Given the description of an element on the screen output the (x, y) to click on. 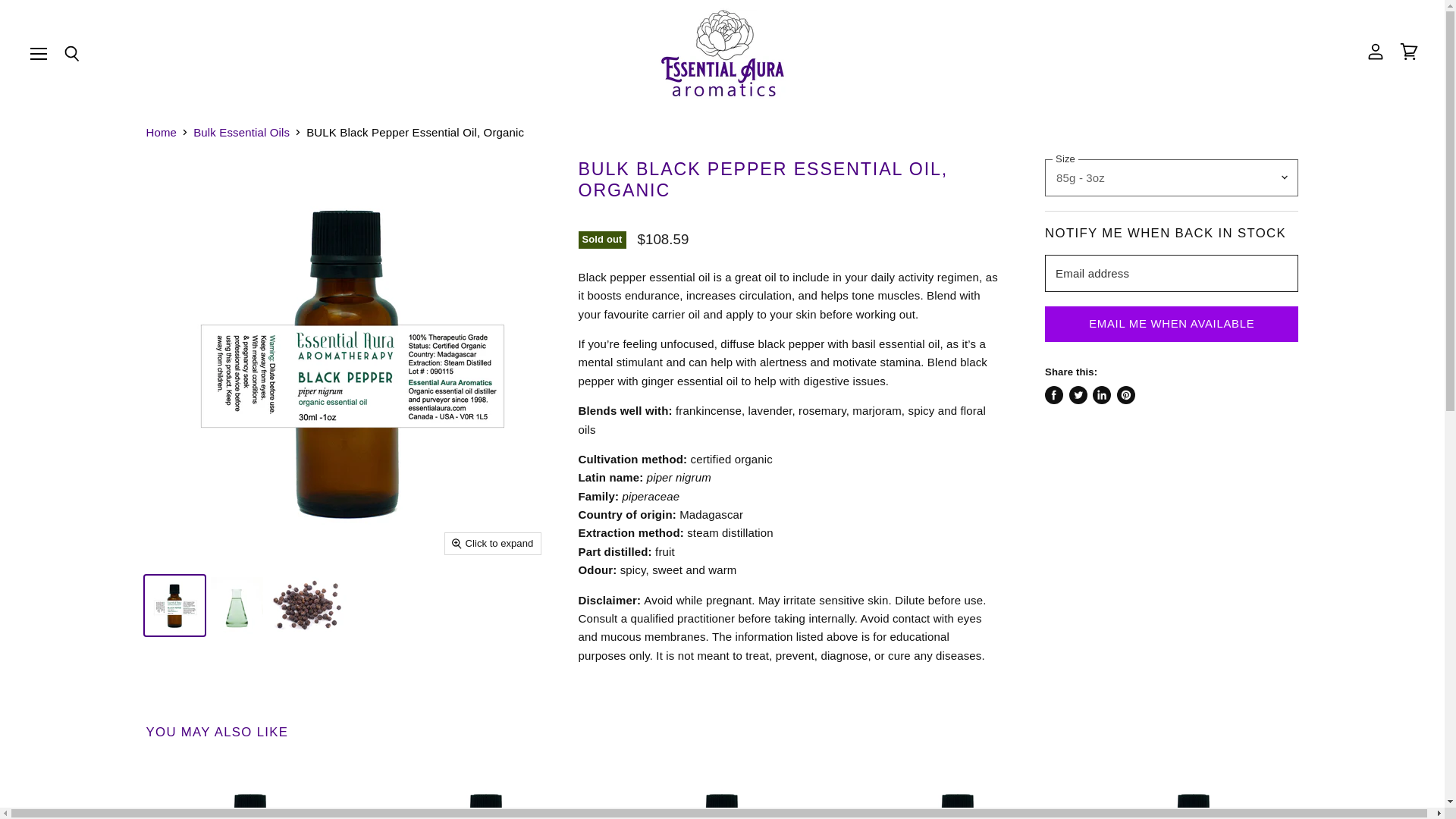
Menu (39, 53)
Search (71, 54)
